Given the description of an element on the screen output the (x, y) to click on. 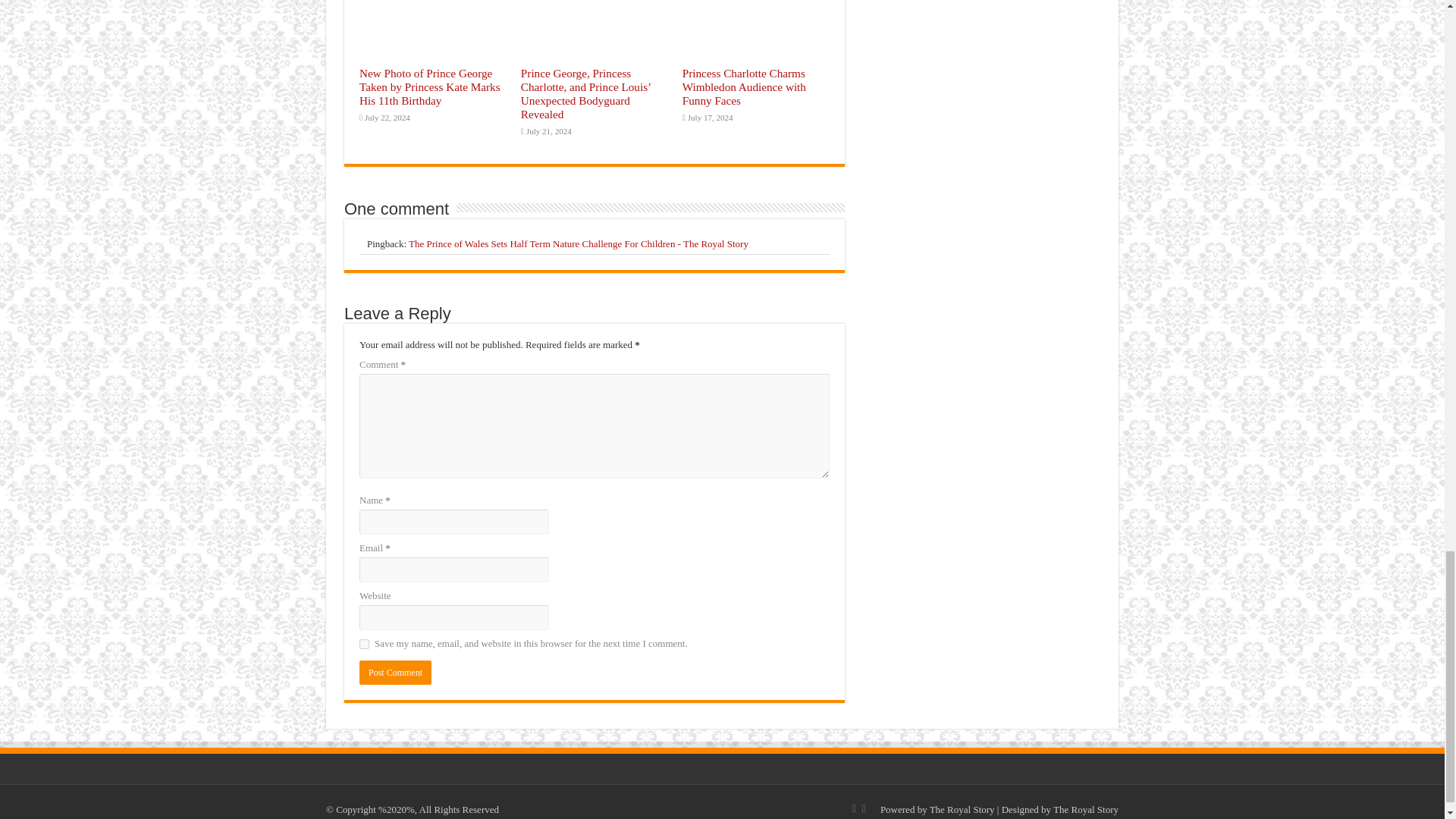
Post Comment (394, 672)
yes (364, 644)
